Given the description of an element on the screen output the (x, y) to click on. 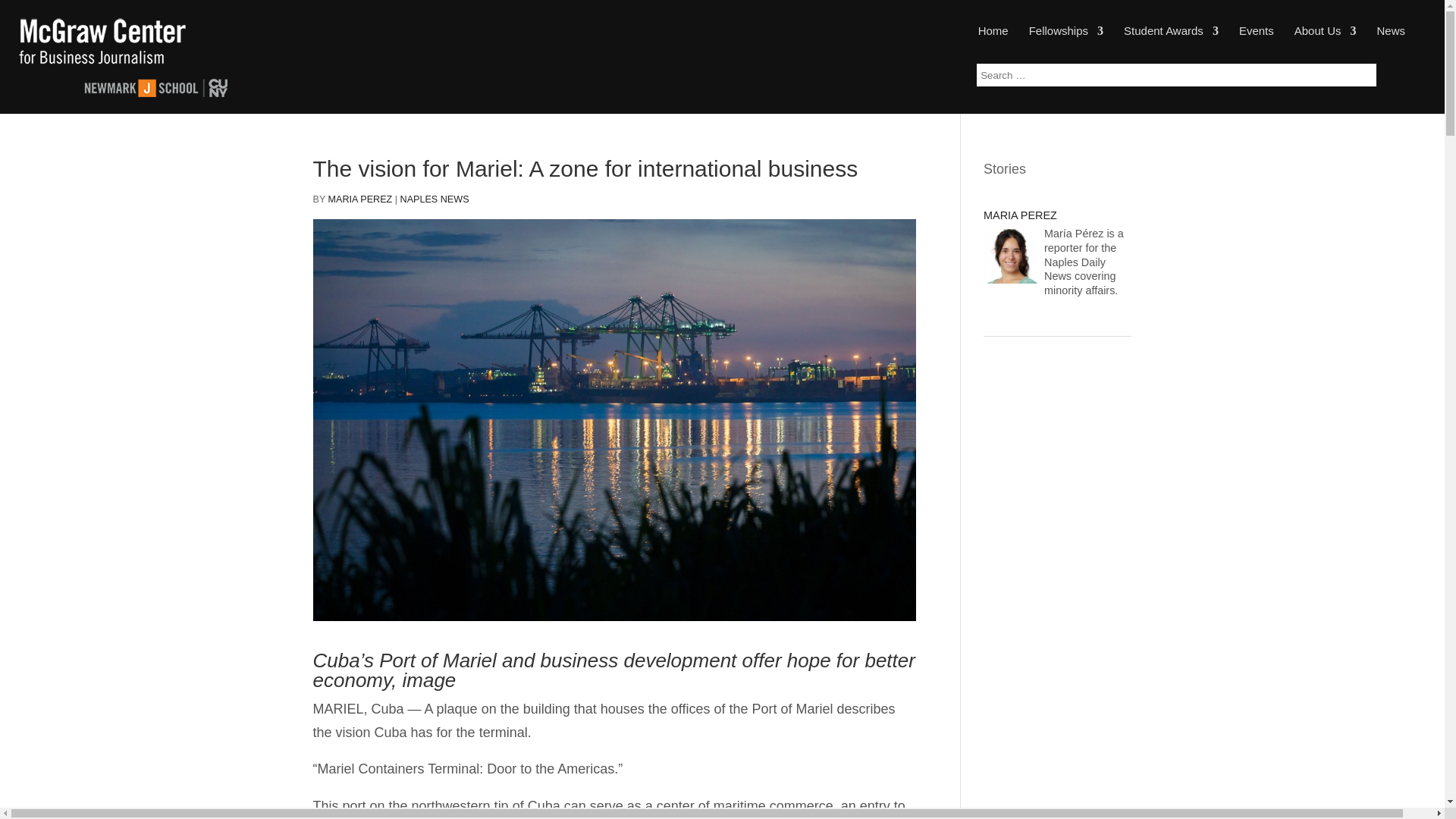
Search for: (1175, 74)
Events (1256, 43)
Fellowships (1066, 43)
About Us (1325, 43)
Student Awards (1171, 43)
